Given the description of an element on the screen output the (x, y) to click on. 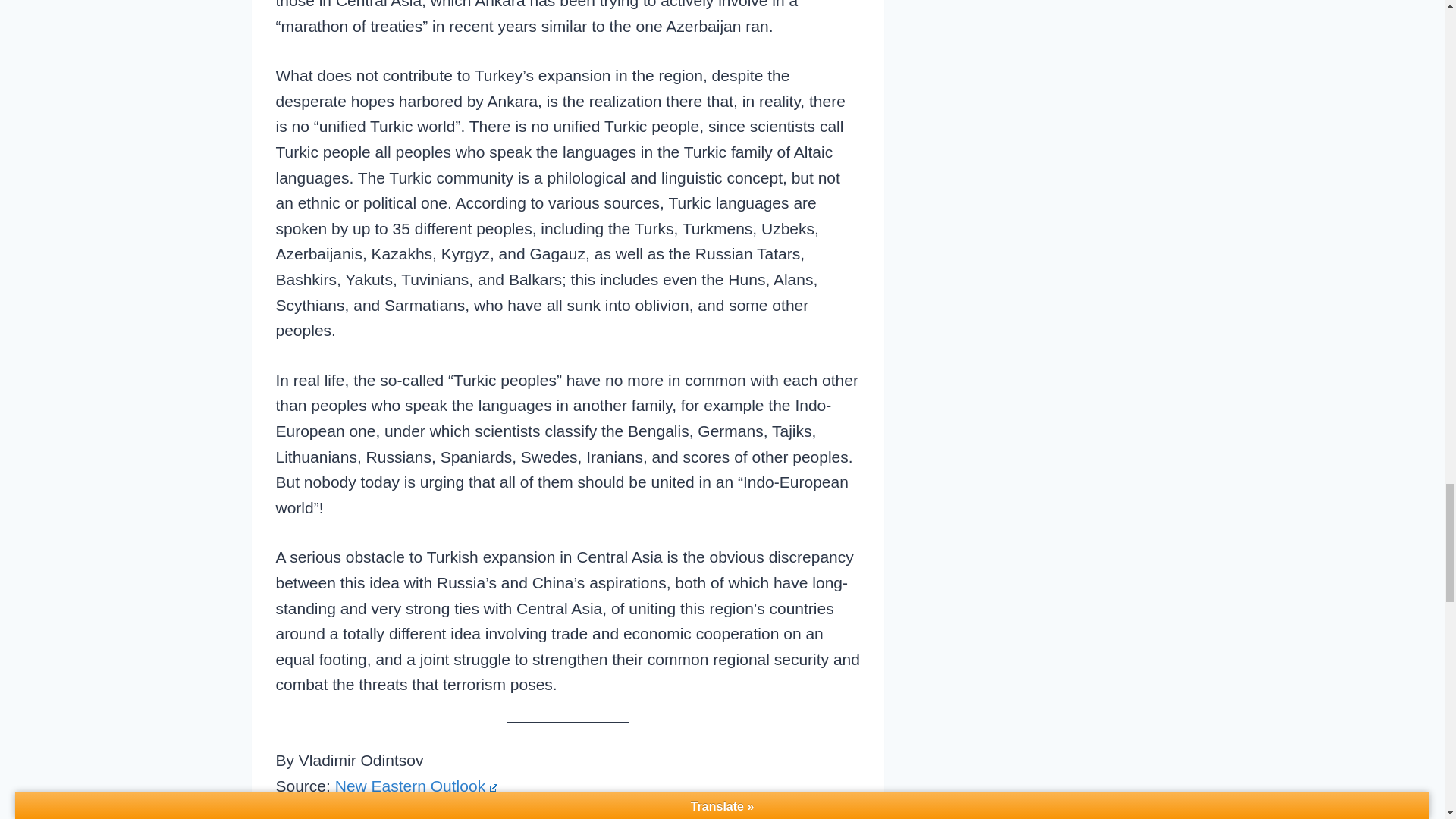
New Eastern Outlook (415, 785)
